Given the description of an element on the screen output the (x, y) to click on. 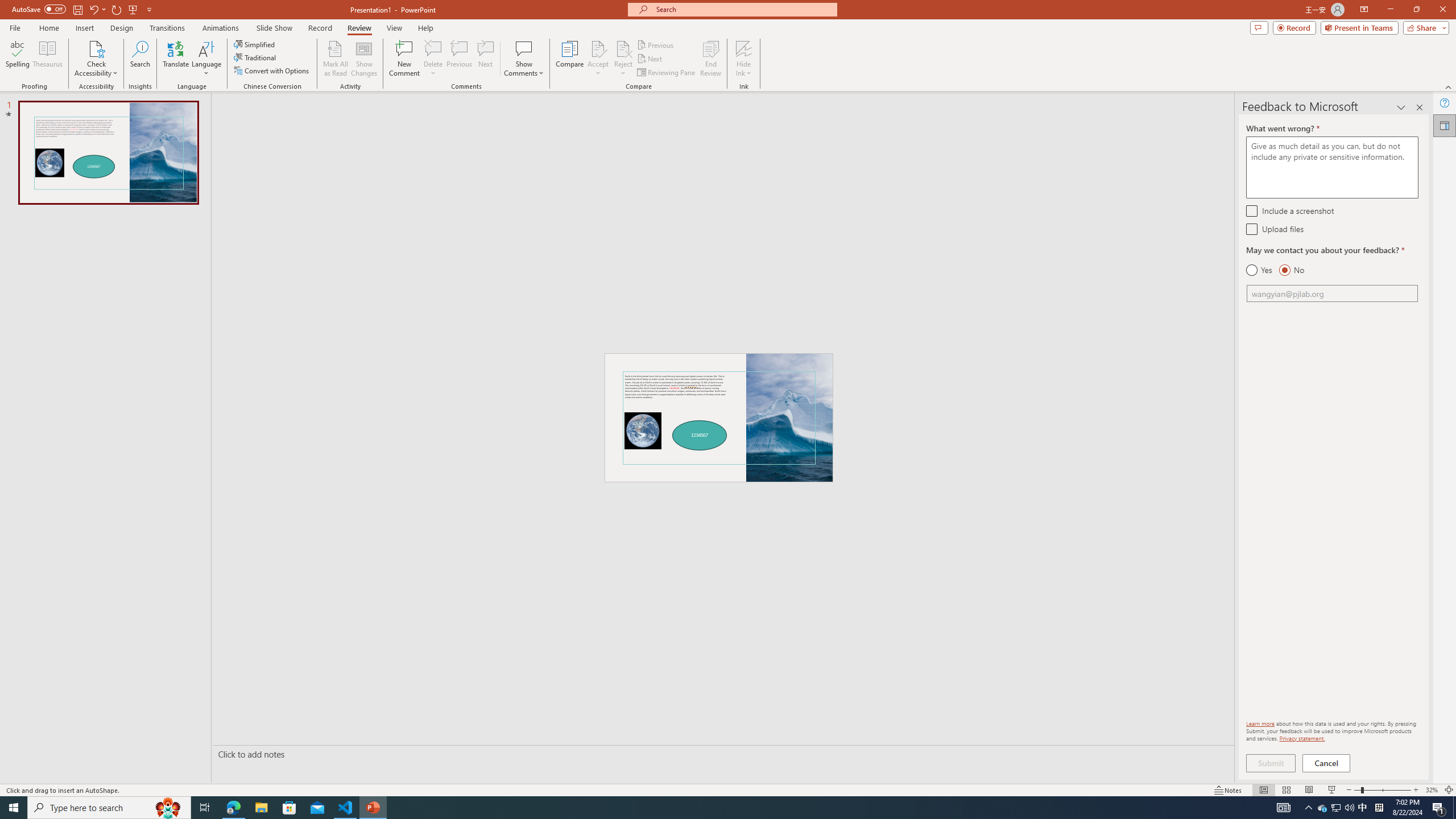
Include a screenshot (1251, 210)
New Comment (403, 58)
No (1291, 269)
